Given the description of an element on the screen output the (x, y) to click on. 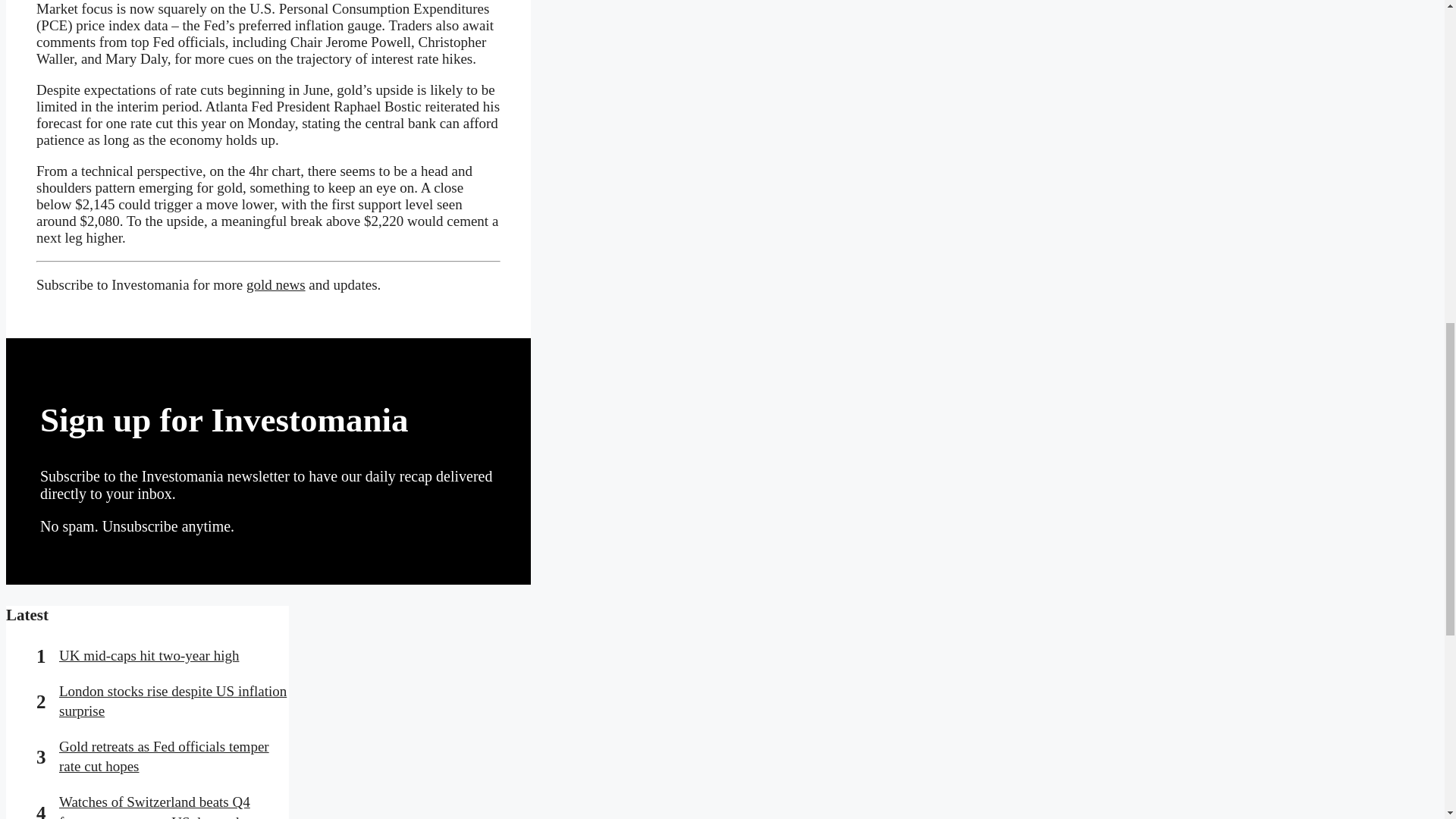
gold news (275, 283)
Gold retreats as Fed officials temper rate cut hopes (164, 756)
UK mid-caps hit two-year high (148, 655)
London stocks rise despite US inflation surprise (172, 701)
